Given the description of an element on the screen output the (x, y) to click on. 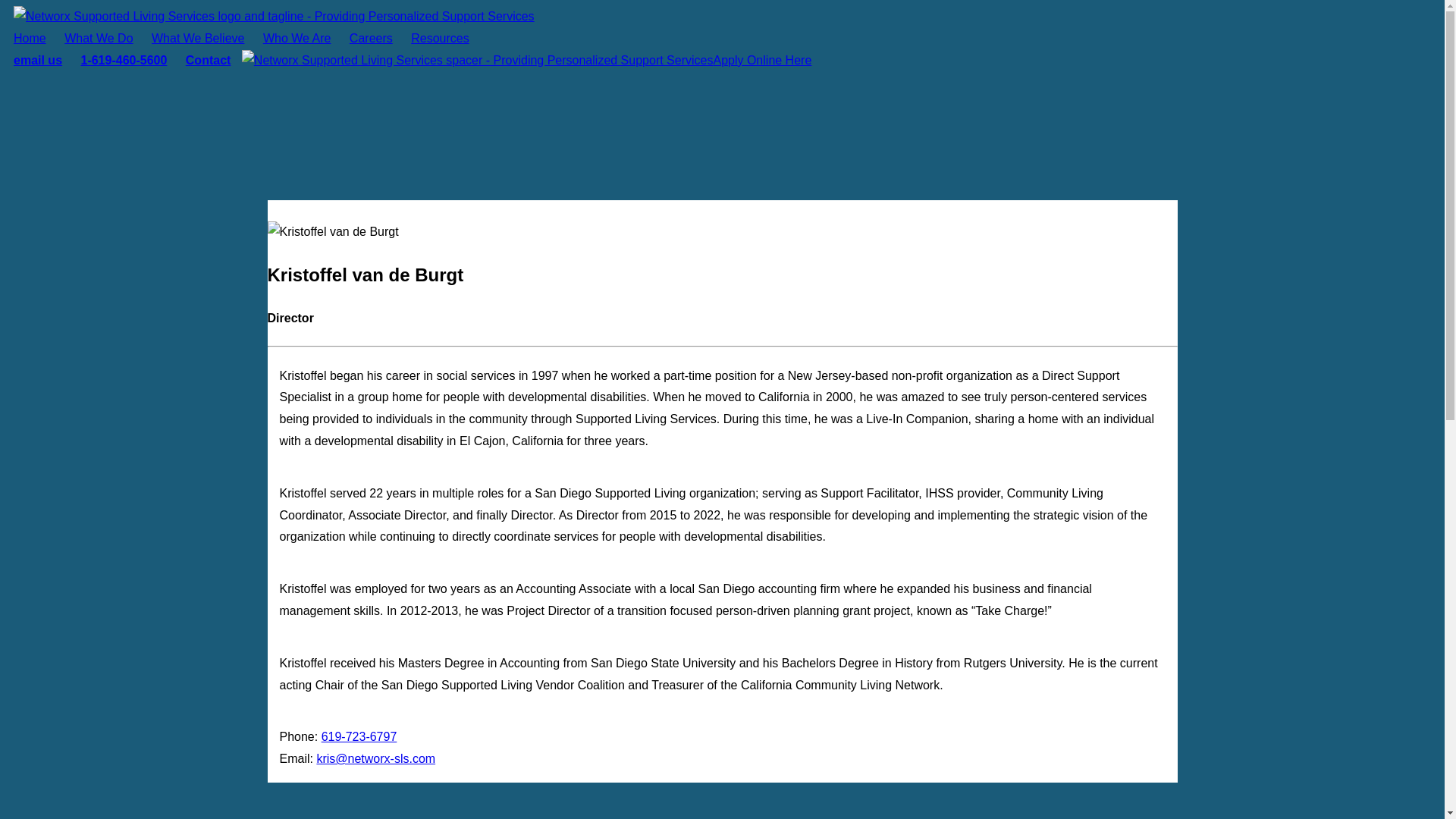
What We Believe (197, 38)
email us (37, 59)
Home (29, 38)
Resources (439, 38)
What We Do (97, 38)
Contact (207, 59)
619-723-6797 (359, 736)
Careers (371, 38)
Apply Online Here (761, 60)
Who We Are (297, 38)
